Given the description of an element on the screen output the (x, y) to click on. 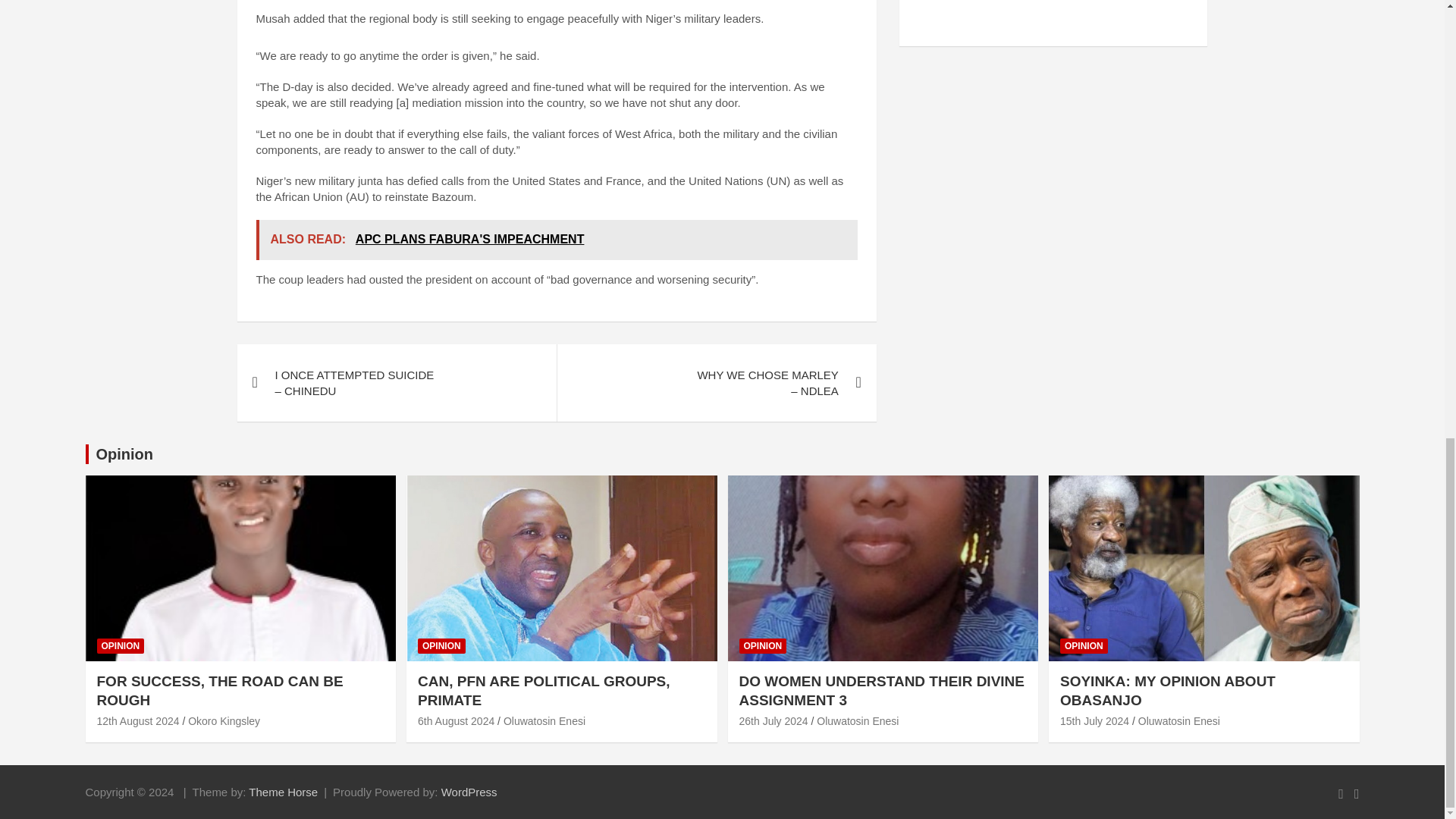
Theme Horse (282, 791)
DO WOMEN UNDERSTAND THEIR DIVINE ASSIGNMENT 3 (773, 720)
FOR SUCCESS, THE ROAD CAN BE ROUGH (138, 720)
CAN, PFN ARE POLITICAL GROUPS, PRIMATE (456, 720)
ALSO READ:   APC PLANS FABURA'S IMPEACHMENT (556, 239)
Facebook (1016, 9)
Twitter (1054, 9)
LinkedIn (1090, 9)
SOYINKA: MY OPINION ABOUT OBASANJO (1094, 720)
